Given the description of an element on the screen output the (x, y) to click on. 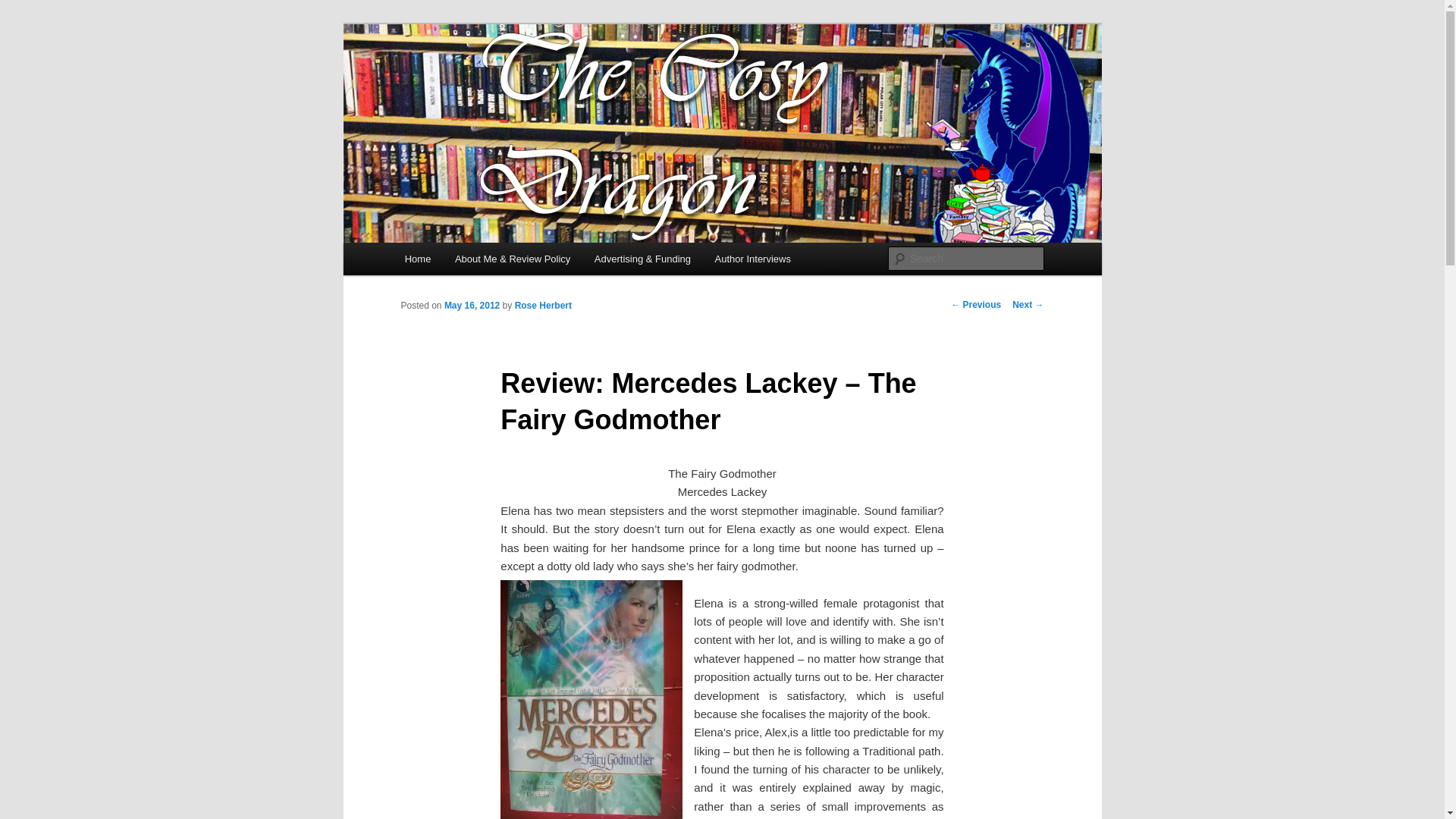
View all posts by Rose Herbert (543, 305)
Author Interviews (753, 258)
May 16, 2012 (471, 305)
The Cosy Dragon (494, 78)
Home (417, 258)
Search (24, 8)
Rose Herbert (543, 305)
1:11 am (471, 305)
